Given the description of an element on the screen output the (x, y) to click on. 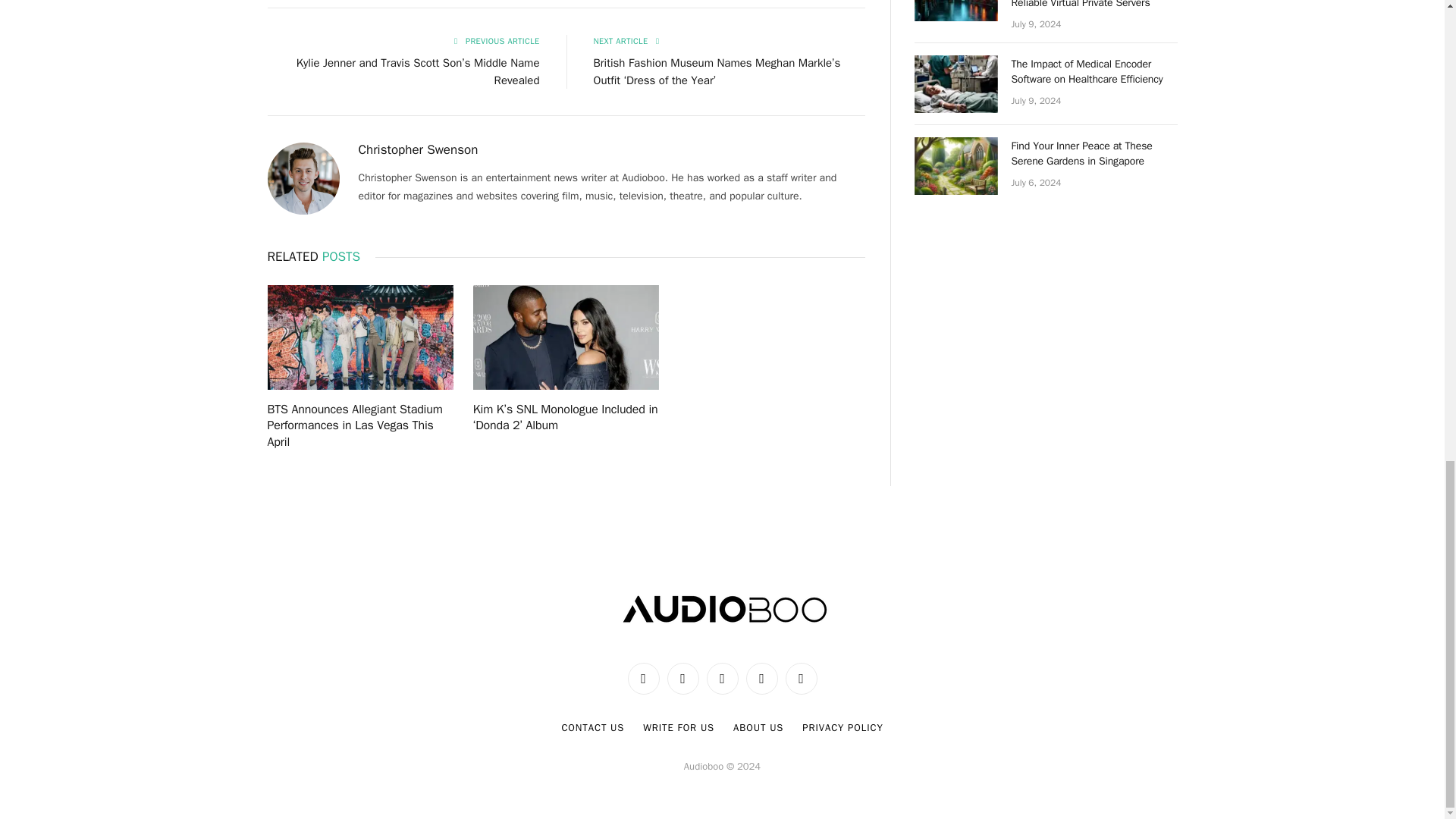
Christopher Swenson (417, 150)
